Given the description of an element on the screen output the (x, y) to click on. 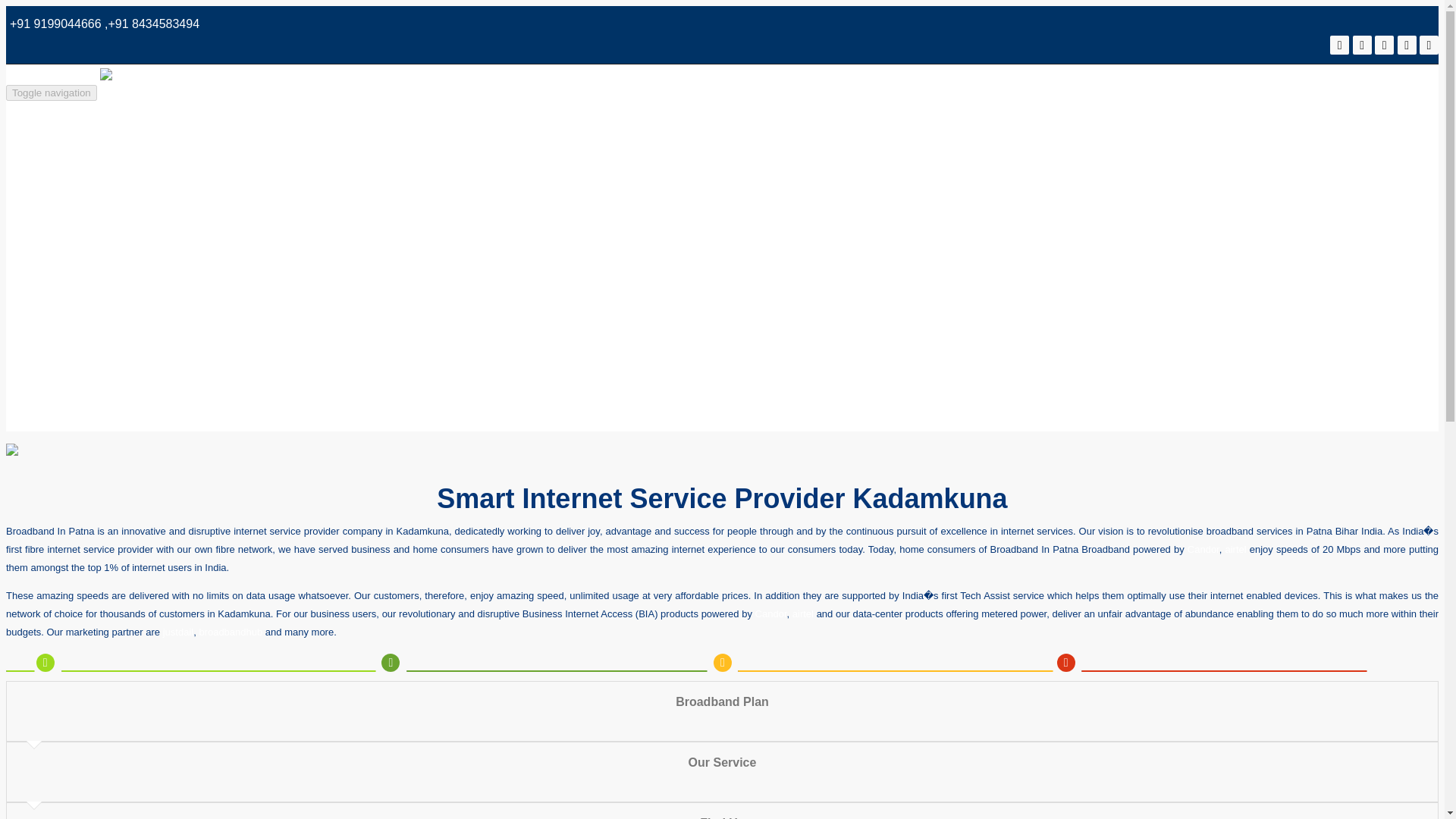
Candor (771, 613)
Contact (92, 397)
Camwel Broadband Services (282, 86)
About us (95, 208)
airtel (1235, 549)
Candor (1204, 549)
CCTV Installation (119, 350)
Toggle navigation (51, 92)
airtel (802, 613)
Broadband Plans (118, 256)
Home (87, 162)
broadbandhub (230, 632)
Computer and Laptop (130, 303)
justdail (178, 632)
